Given the description of an element on the screen output the (x, y) to click on. 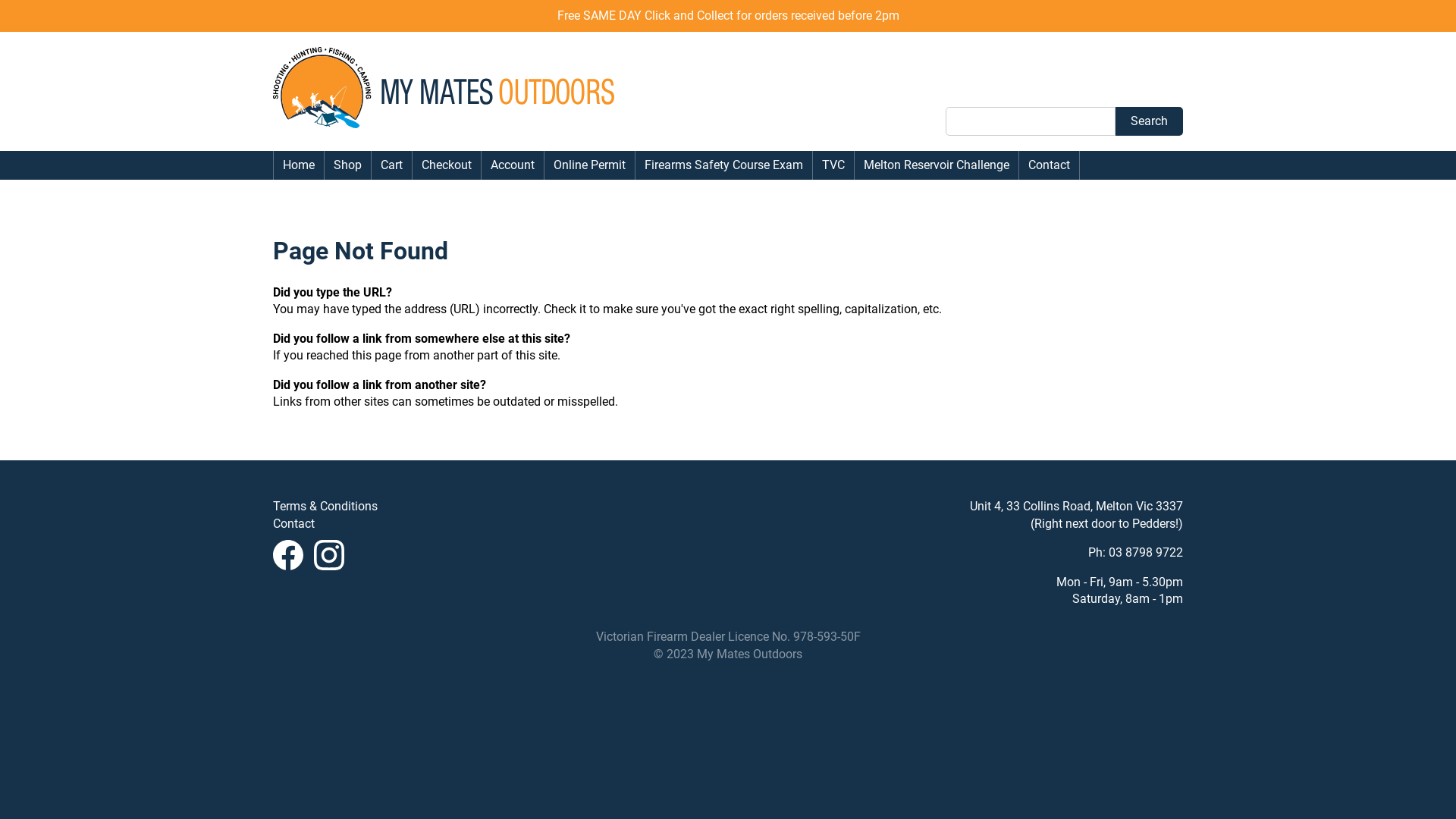
Home Element type: text (298, 164)
Terms & Conditions Element type: text (325, 505)
Cart Element type: text (391, 164)
Checkout Element type: text (446, 164)
Shop Element type: text (347, 164)
Firearms Safety Course Exam Element type: text (723, 164)
Search Element type: text (1149, 120)
Contact Element type: text (1049, 164)
Melton Reservoir Challenge Element type: text (936, 164)
Contact Element type: text (293, 523)
Account Element type: text (512, 164)
Online Permit Element type: text (589, 164)
03 8798 9722 Element type: text (1145, 552)
TVC Element type: text (832, 164)
